Given the description of an element on the screen output the (x, y) to click on. 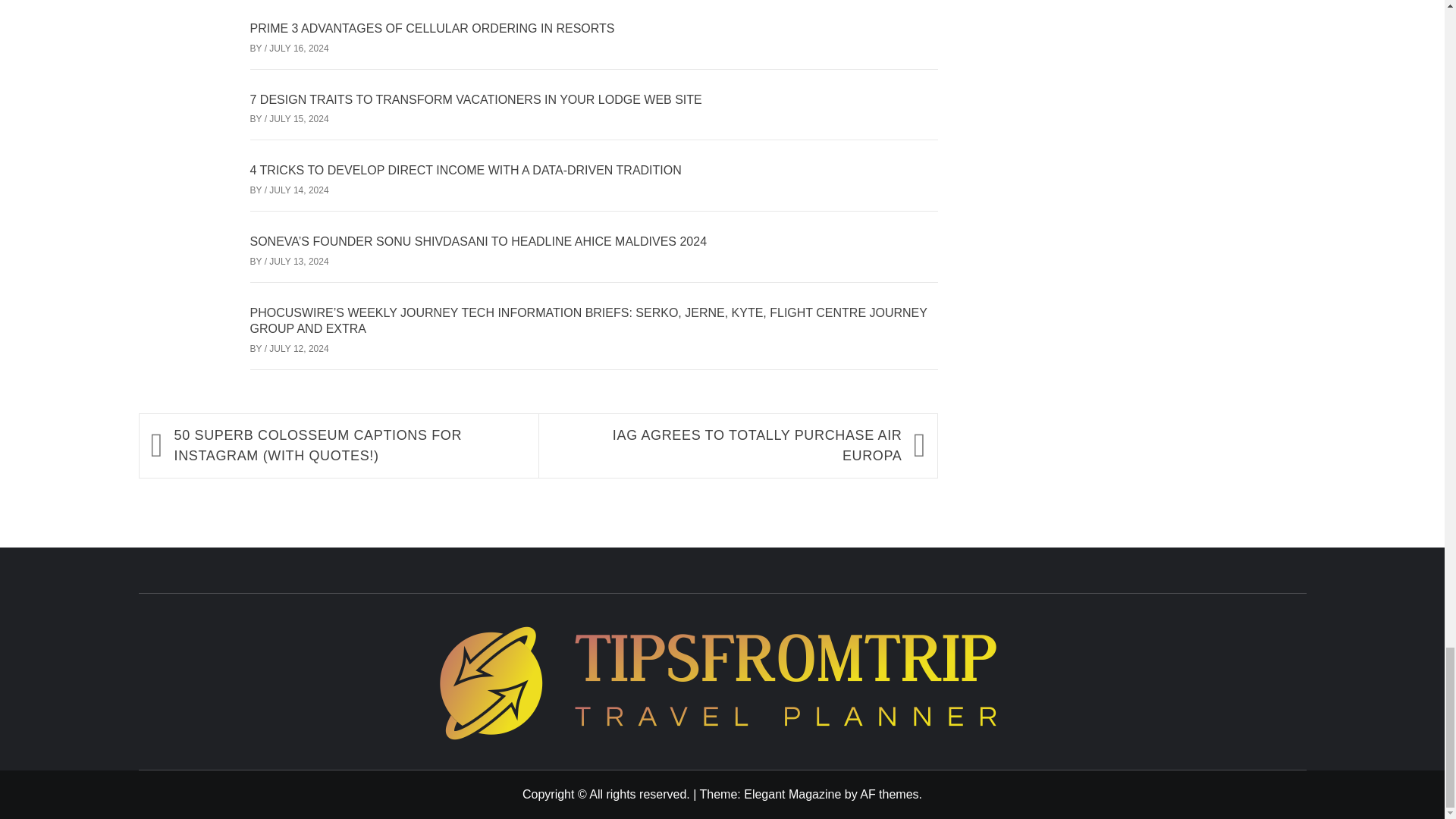
PRIME 3 ADVANTAGES OF CELLULAR ORDERING IN RESORTS (432, 28)
IAG AGREES TO TOTALLY PURCHASE AIR EUROPA (726, 445)
